Given the description of an element on the screen output the (x, y) to click on. 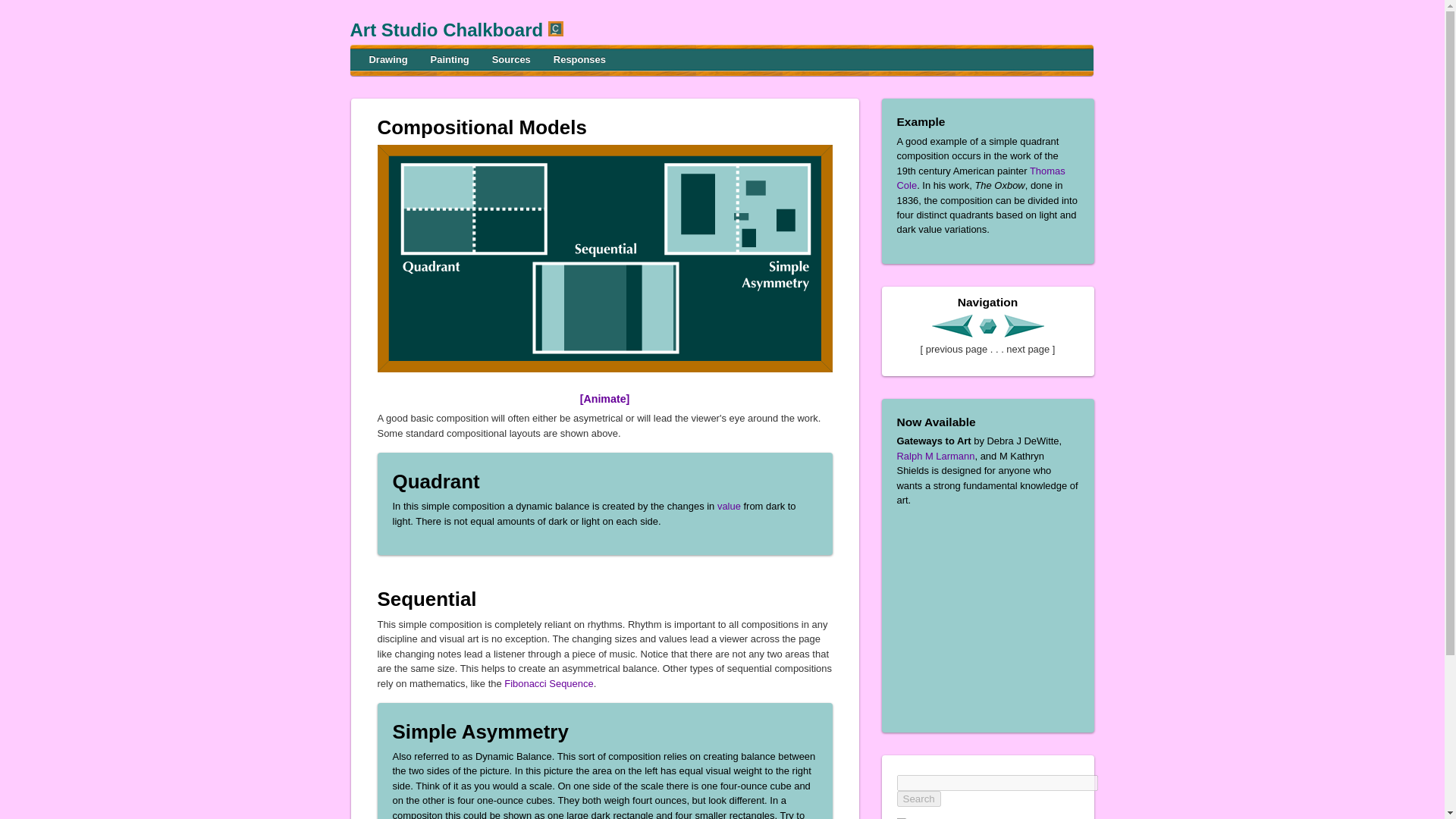
Sources (510, 60)
Sequential (427, 598)
Fibonacci Sequence (547, 683)
Painting (449, 60)
Art Studio Chalkboard (449, 29)
Responses (579, 60)
Search (918, 798)
Ralph M Larmann (935, 455)
Search (918, 798)
Drawing (388, 60)
Simple Asymmetry (481, 731)
value (729, 505)
Thomas Cole (980, 177)
Quadrant (436, 481)
Compositional Models (481, 127)
